Given the description of an element on the screen output the (x, y) to click on. 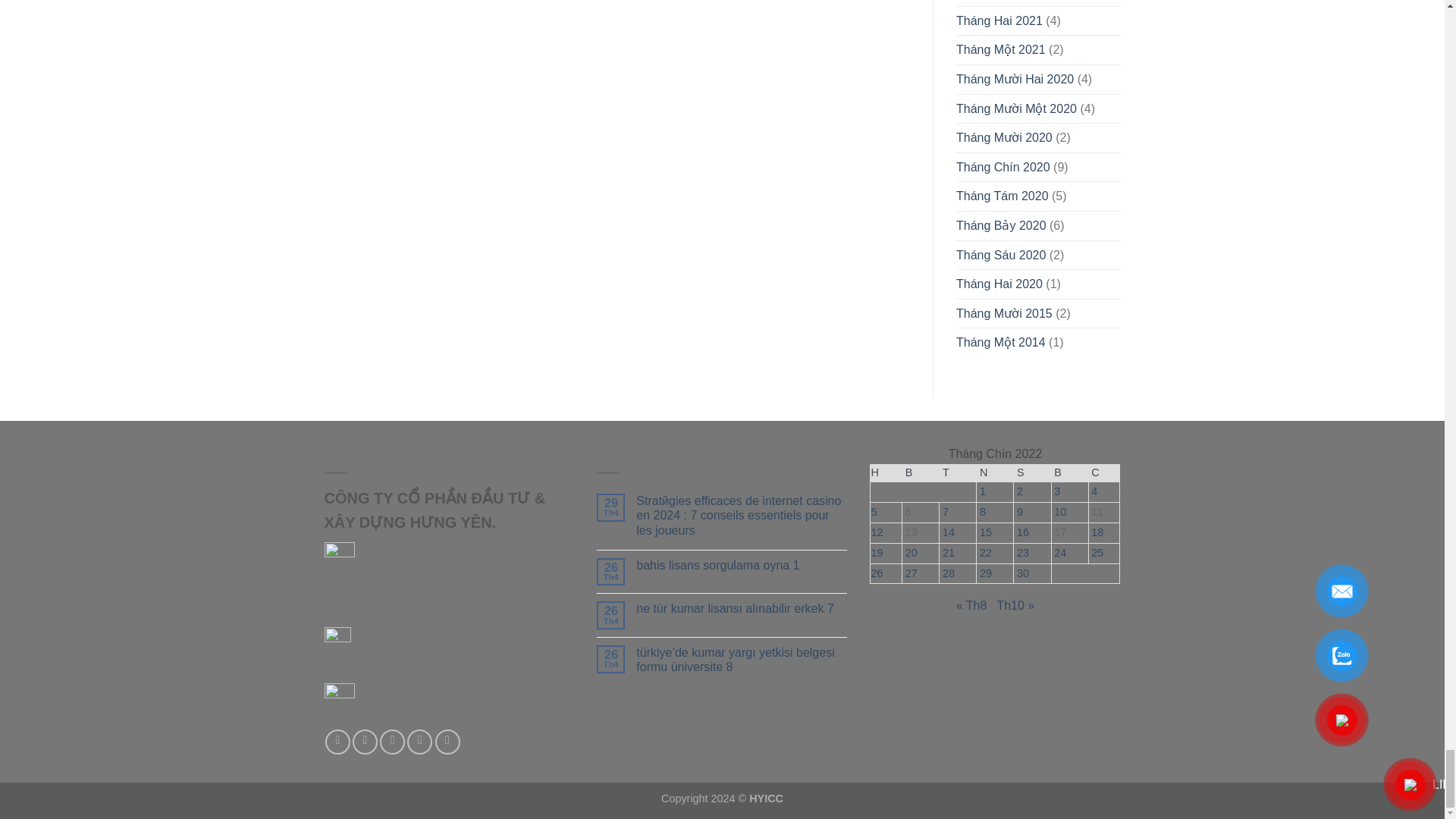
Follow on Twitter (392, 741)
bahis lisans sorgulama oyna 1 (741, 564)
Follow on Facebook (337, 741)
Follow on Instagram (364, 741)
Follow on Pinterest (447, 741)
Send us an email (419, 741)
